Given the description of an element on the screen output the (x, y) to click on. 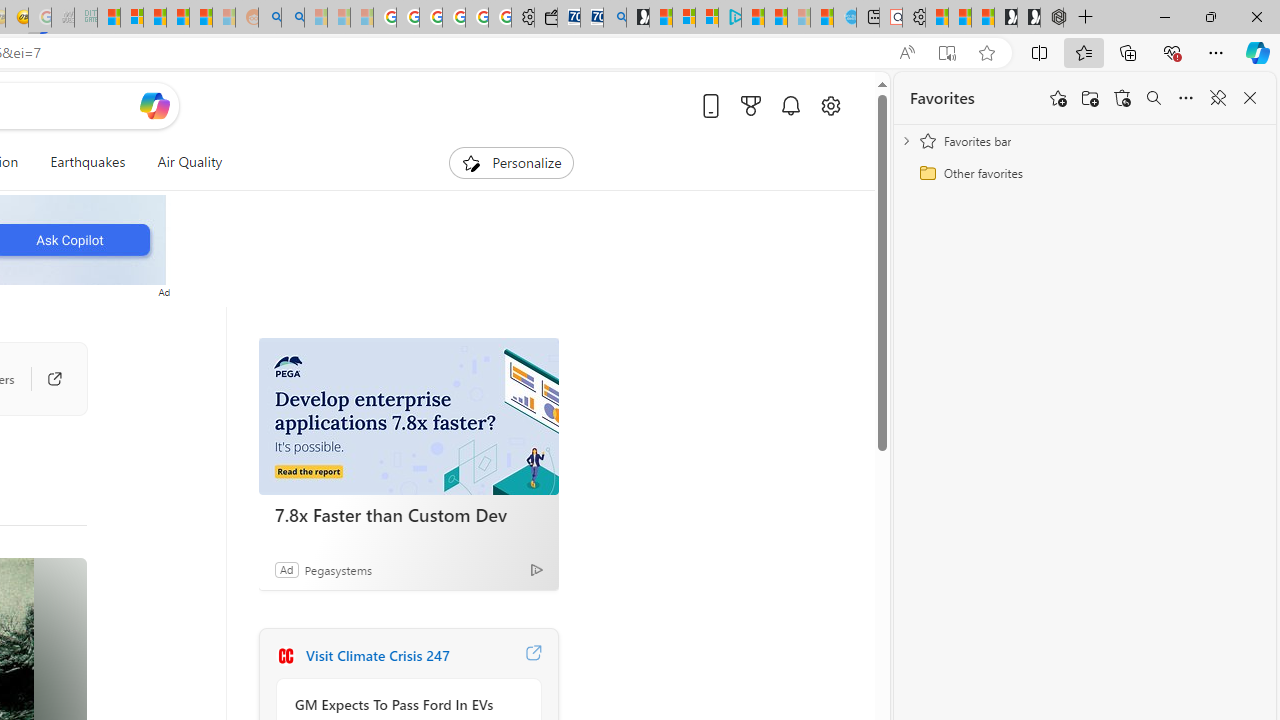
Utah sues federal government - Search (292, 17)
7.8x Faster than Custom Dev (408, 416)
Climate Crisis 247 (285, 655)
Air Quality (181, 162)
